Given the description of an element on the screen output the (x, y) to click on. 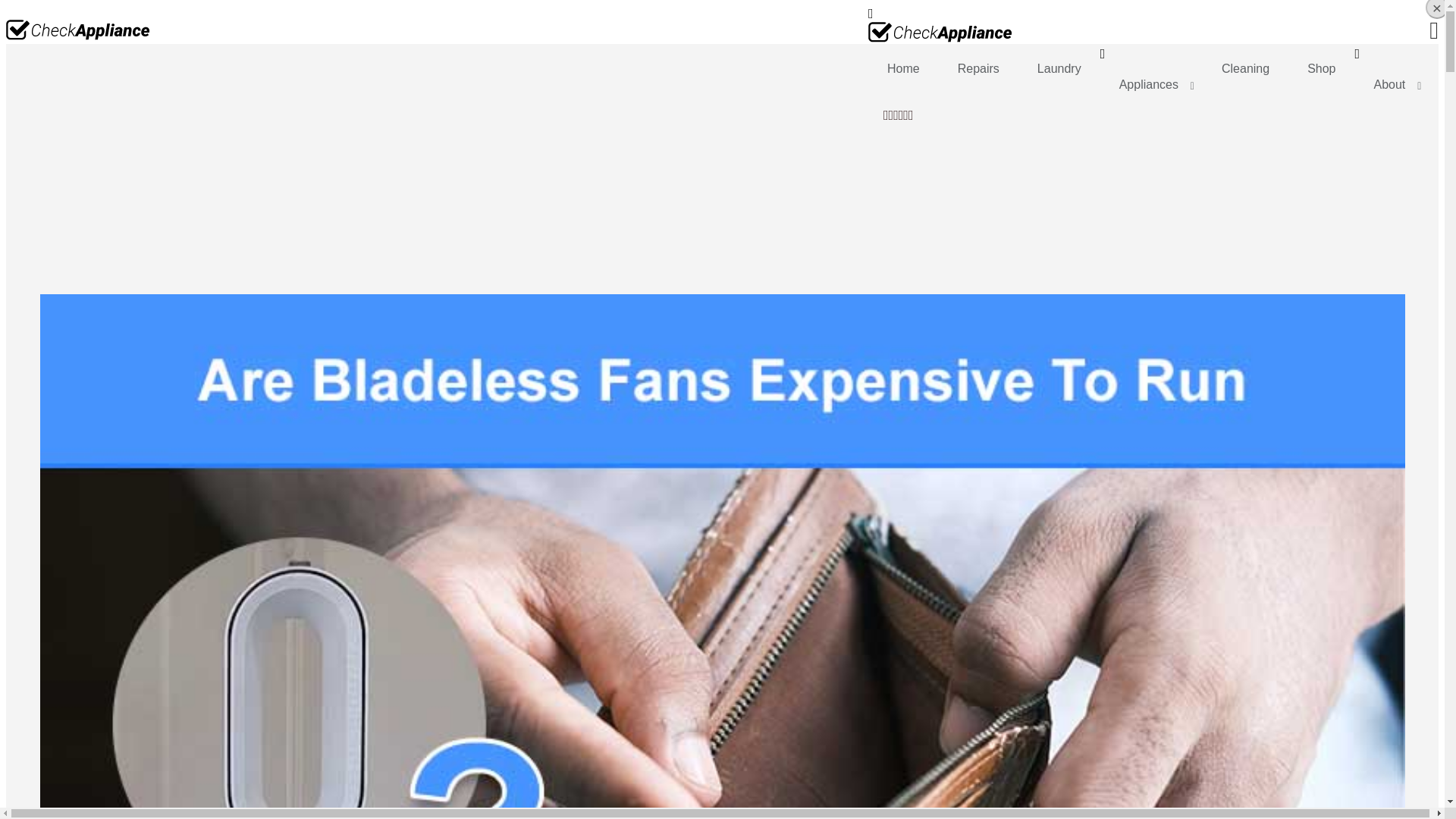
Laundry (1058, 68)
Shop (1321, 68)
Appliances (1151, 84)
About (1391, 84)
Home (903, 68)
Repairs (978, 68)
Cleaning (1245, 68)
